Given the description of an element on the screen output the (x, y) to click on. 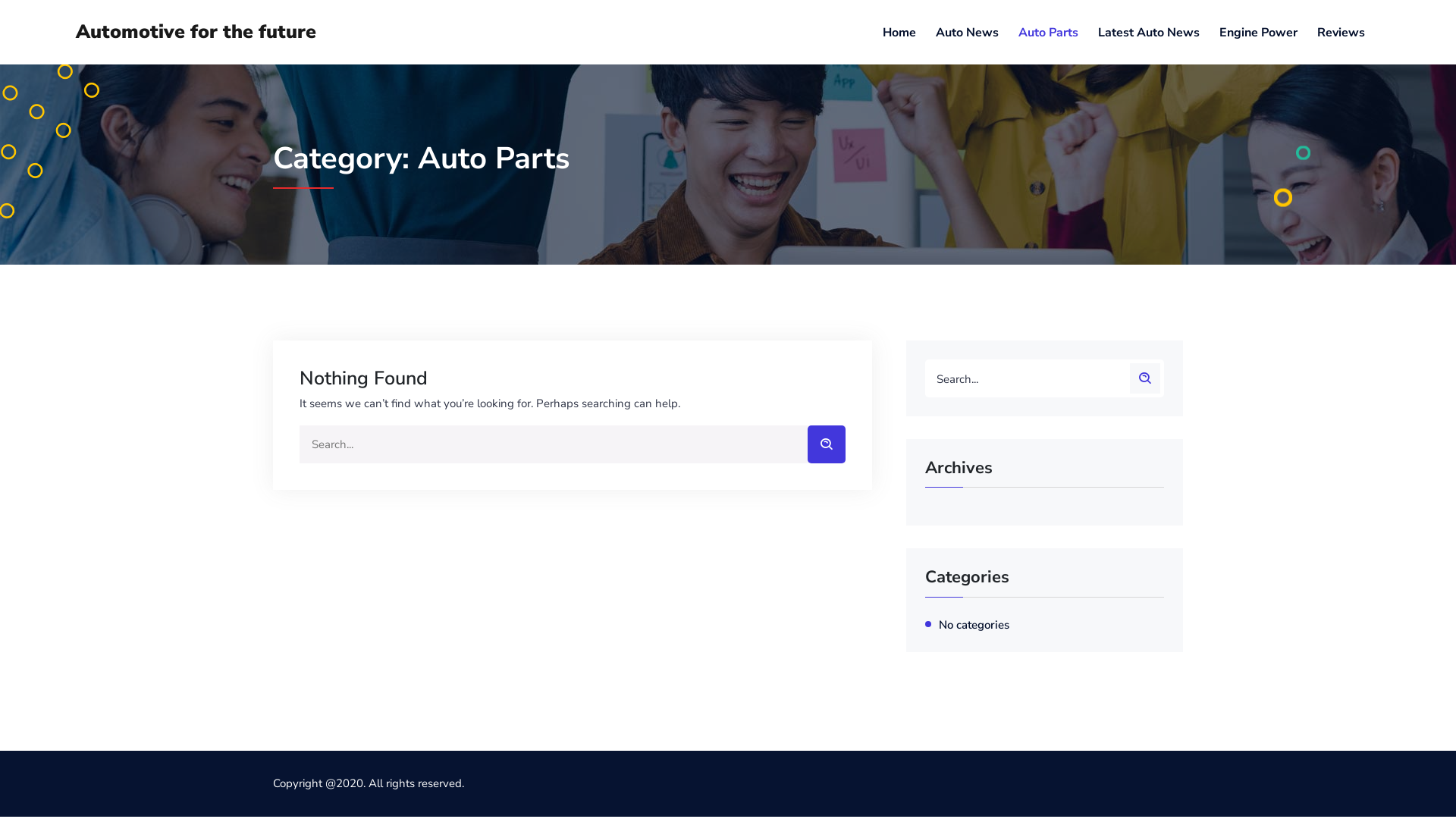
Auto Parts Element type: text (1048, 31)
Engine Power Element type: text (1258, 31)
Auto News Element type: text (966, 31)
Latest Auto News Element type: text (1148, 31)
Automotive for the future Element type: text (195, 32)
Reviews Element type: text (1341, 31)
Home Element type: text (899, 31)
